Given the description of an element on the screen output the (x, y) to click on. 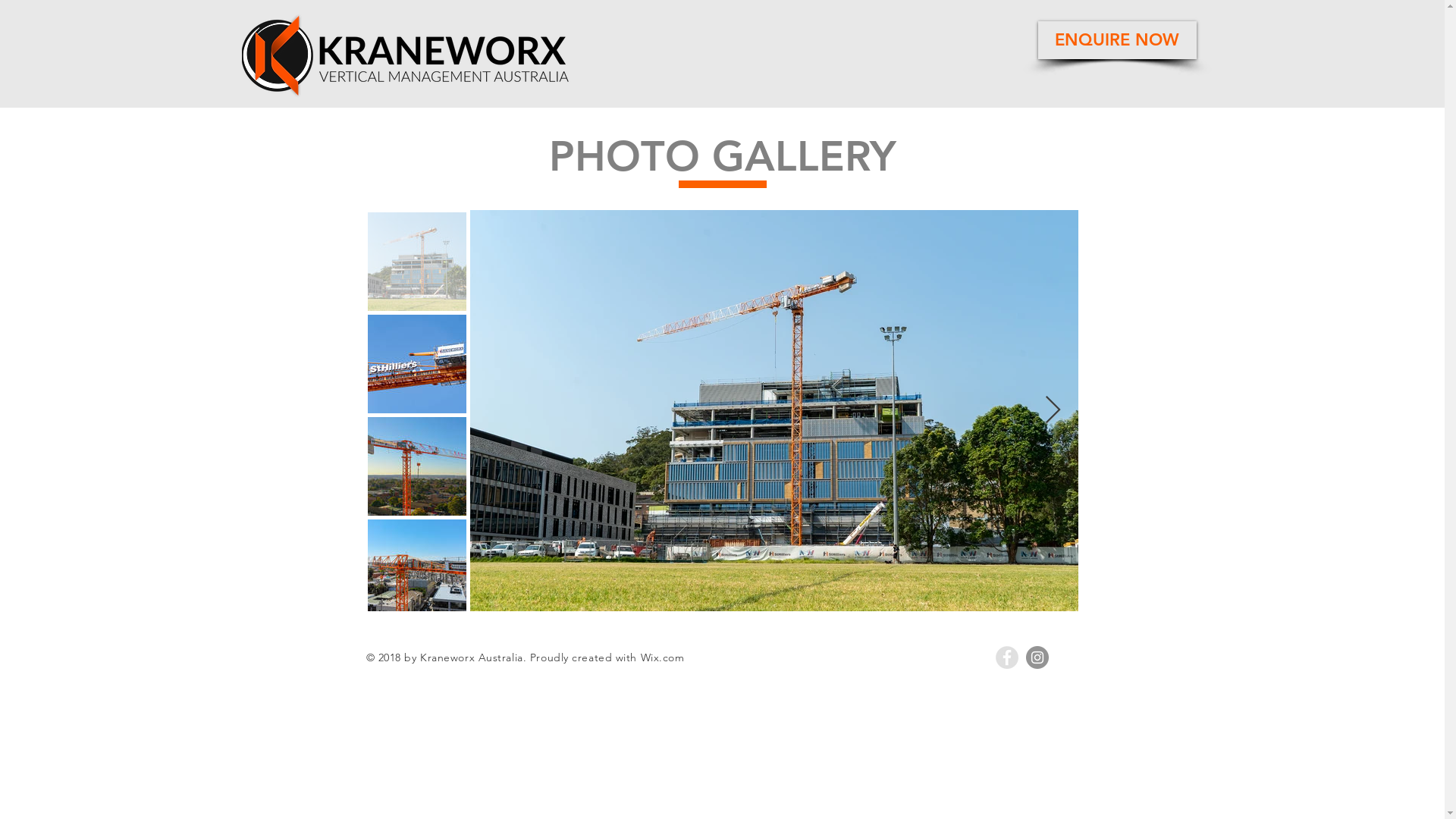
Wix.com Element type: text (662, 657)
ENQUIRE NOW Element type: text (1116, 40)
